Given the description of an element on the screen output the (x, y) to click on. 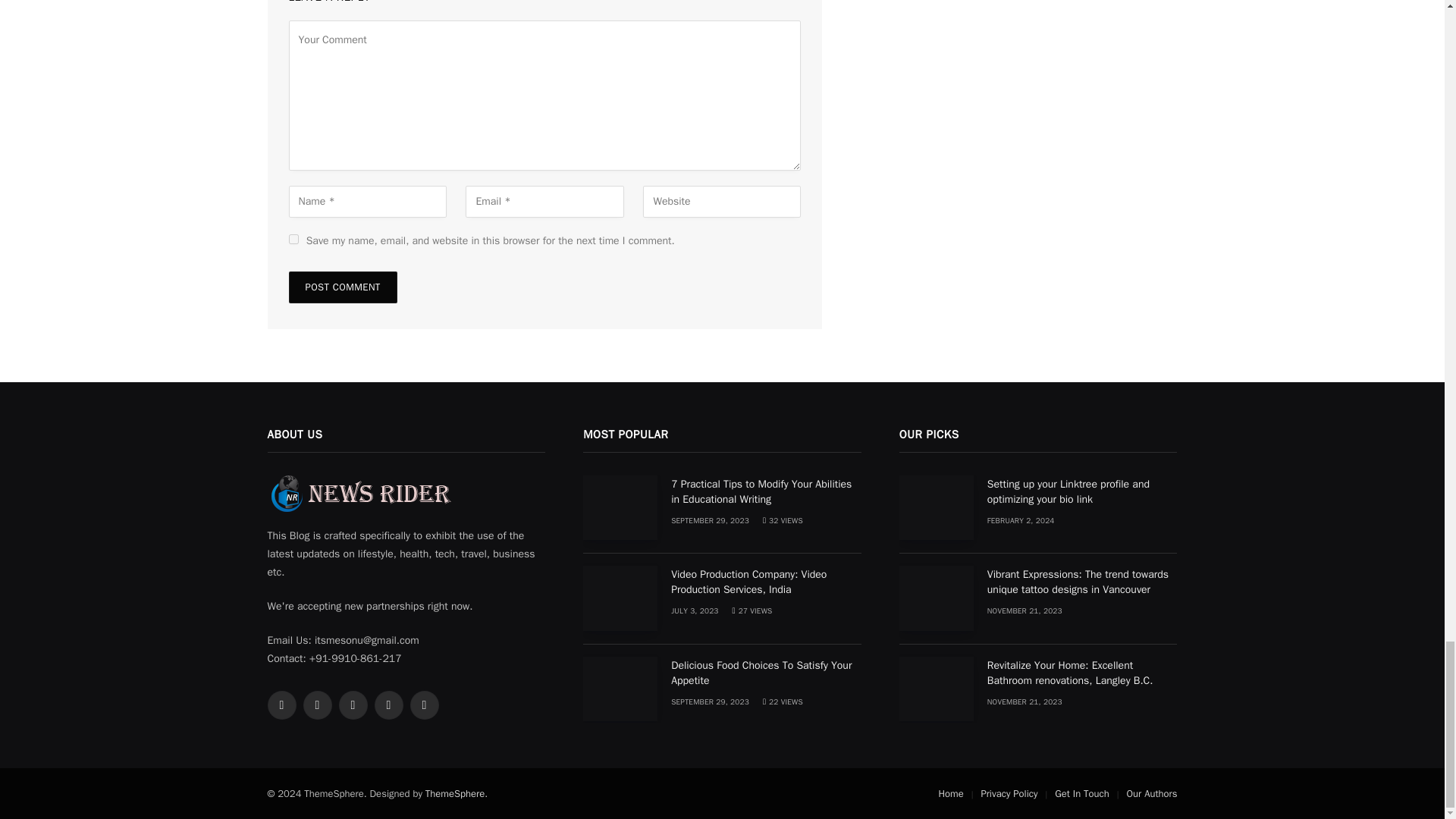
Post Comment (342, 287)
yes (293, 239)
